Given the description of an element on the screen output the (x, y) to click on. 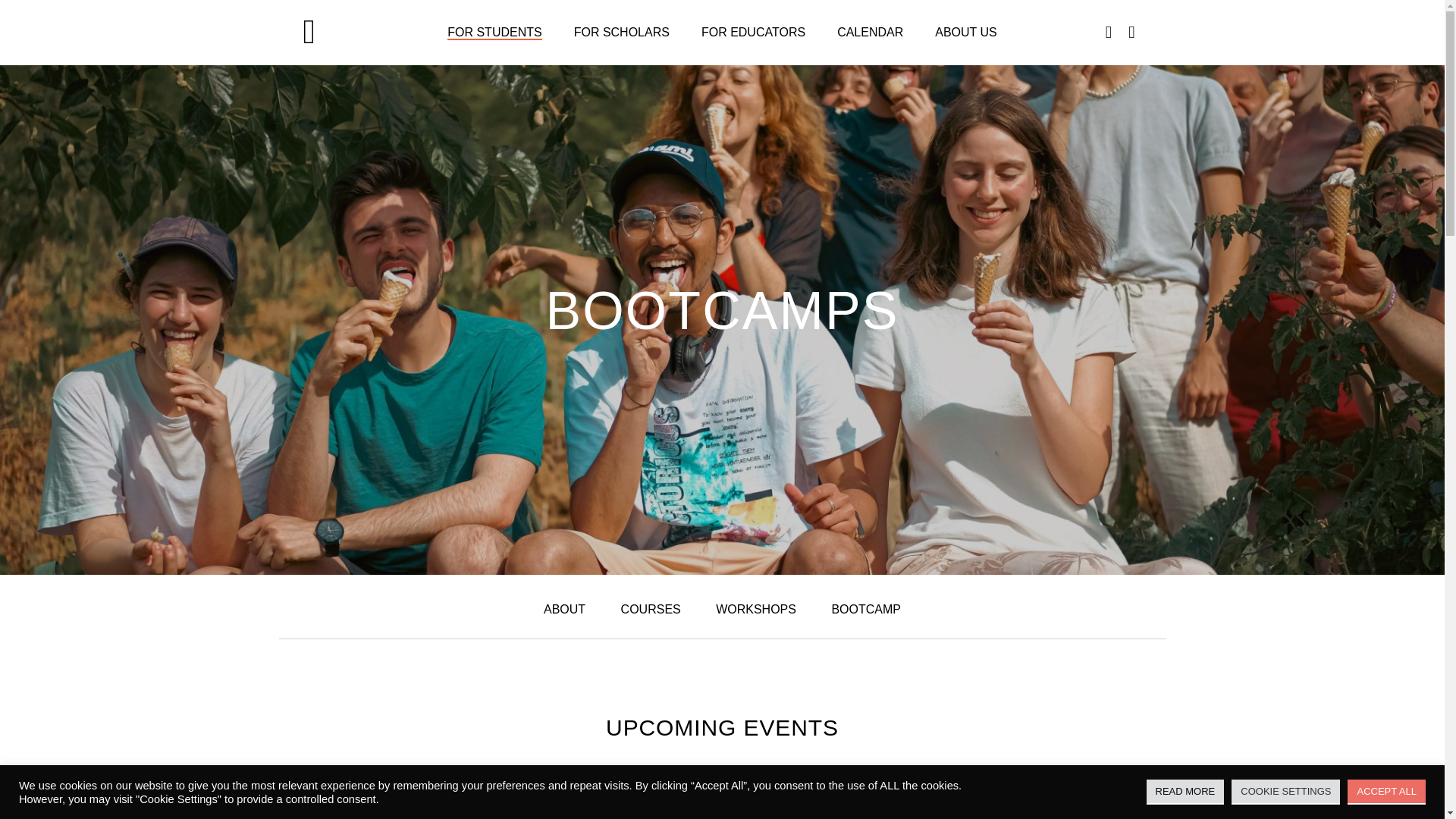
FOR SCHOLARS (621, 31)
WORKSHOPS (756, 608)
FOR EDUCATORS (753, 31)
ABOUT (564, 608)
CALENDAR (869, 31)
FOR STUDENTS (493, 32)
COURSES (651, 608)
BOOTCAMP (866, 608)
ABOUT US (965, 31)
